Given the description of an element on the screen output the (x, y) to click on. 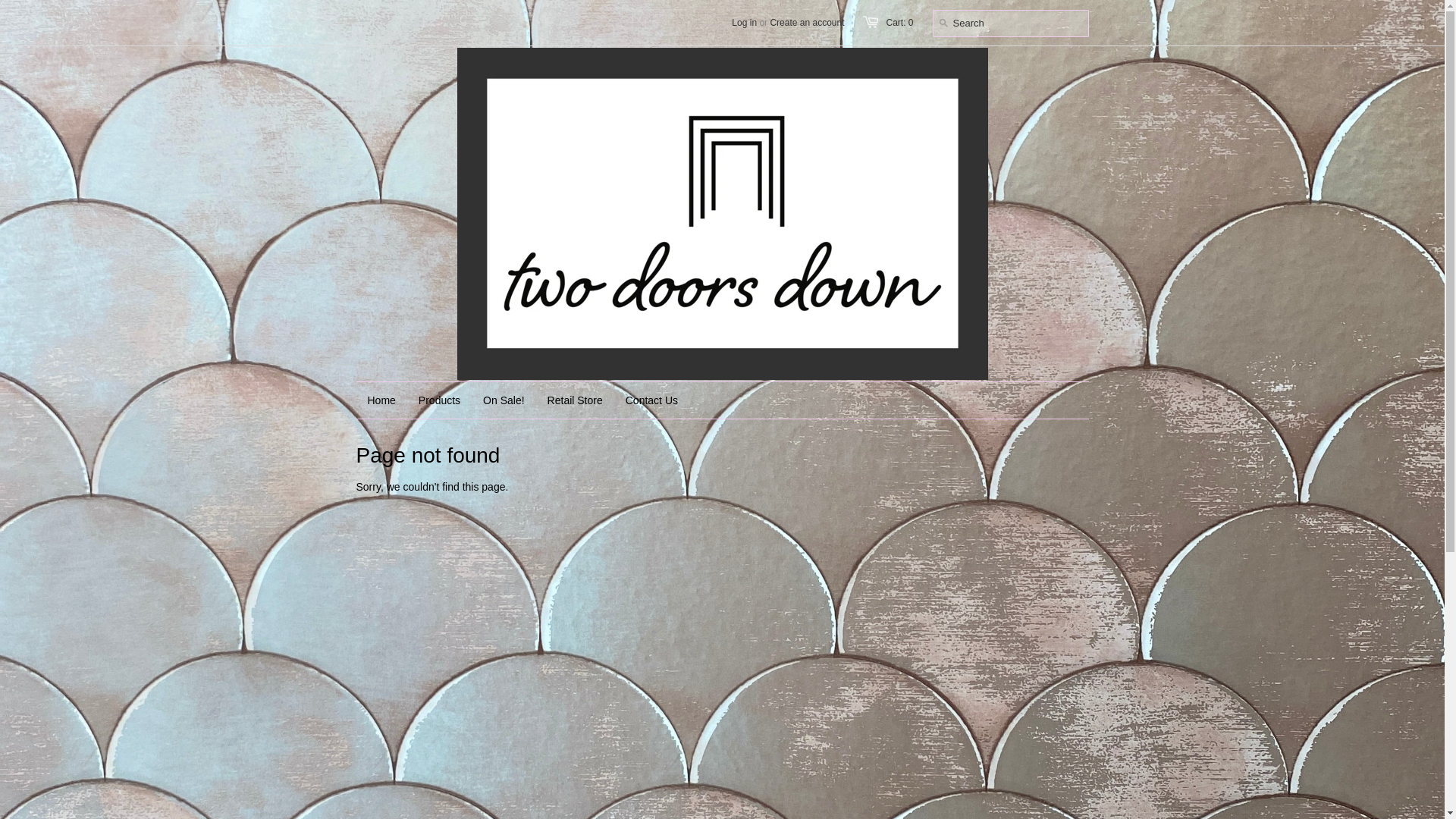
On Sale! (503, 400)
Log in (744, 22)
Create an account (807, 22)
Shopping Cart (898, 22)
Home (381, 400)
Cart: 0 (898, 22)
Retail Store (574, 400)
Contact Us (651, 400)
Products (439, 400)
